Given the description of an element on the screen output the (x, y) to click on. 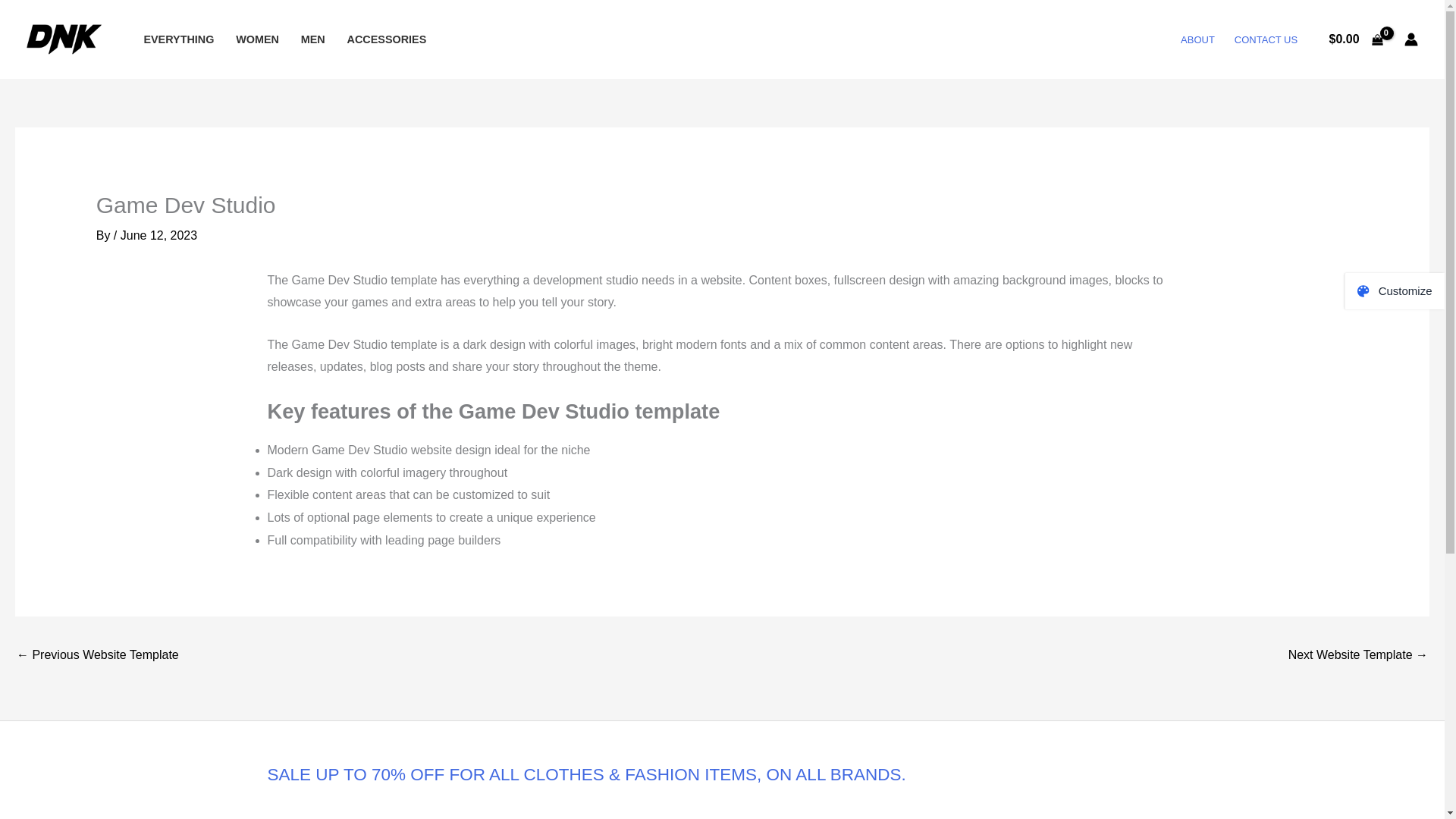
Lotus Spa (1358, 656)
ABOUT (1197, 39)
SaaS App Company (97, 656)
ACCESSORIES (387, 39)
WOMEN (257, 39)
EVERYTHING (178, 39)
CONTACT US (1265, 39)
